Given the description of an element on the screen output the (x, y) to click on. 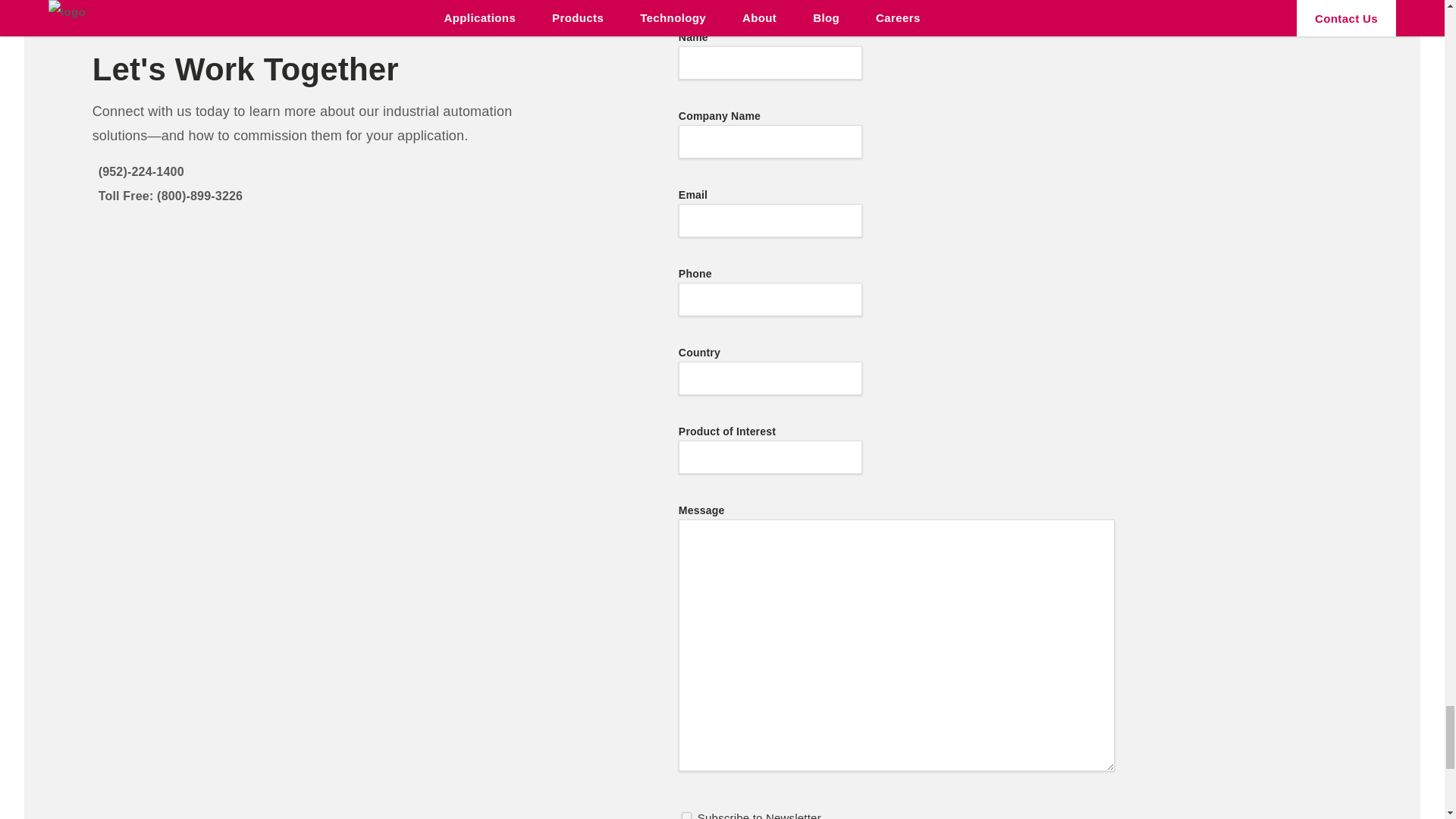
Subscribe to Newsletter (686, 815)
